Given the description of an element on the screen output the (x, y) to click on. 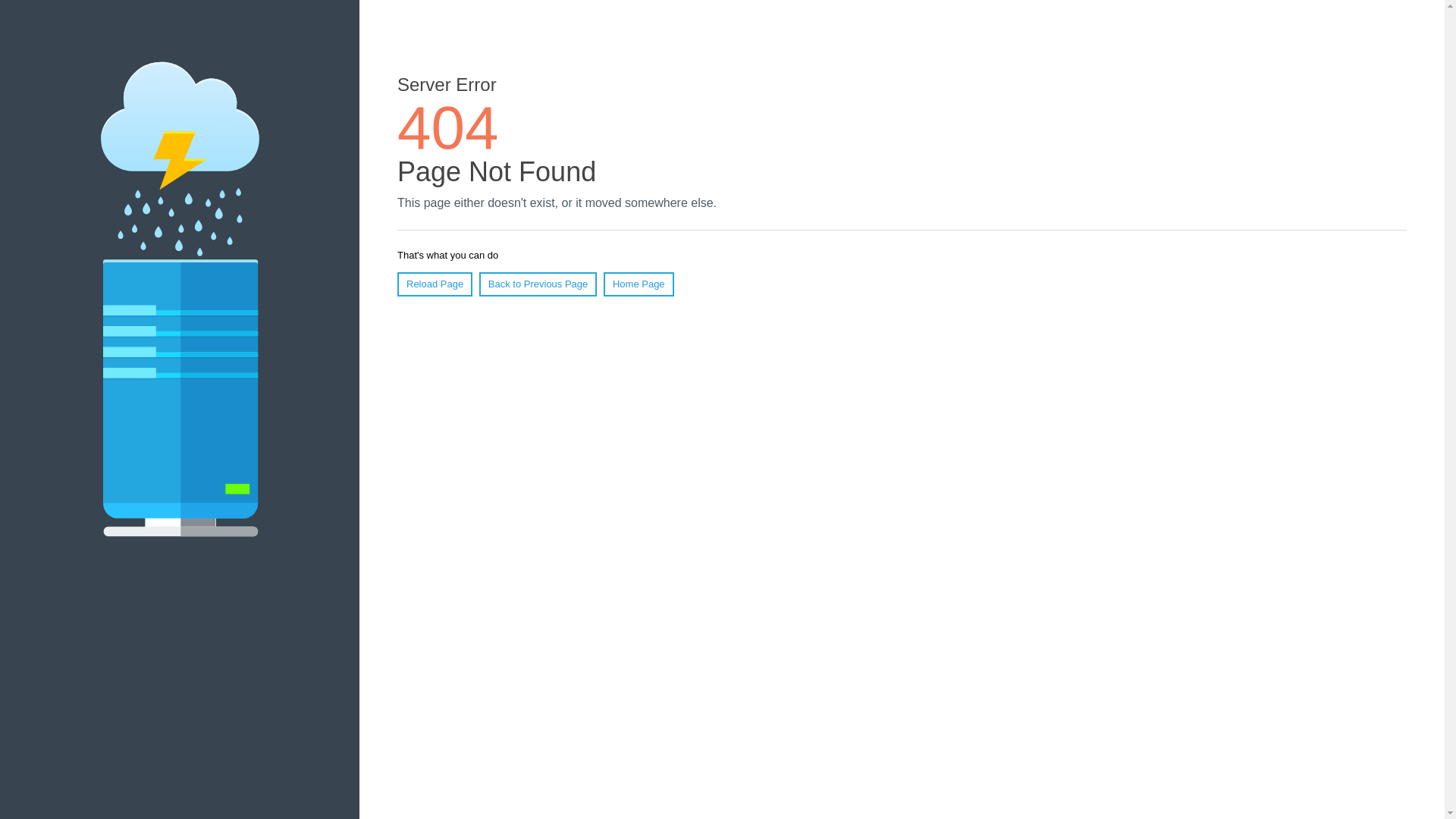
Home Page Element type: text (638, 284)
Back to Previous Page Element type: text (538, 284)
Reload Page Element type: text (434, 284)
